Given the description of an element on the screen output the (x, y) to click on. 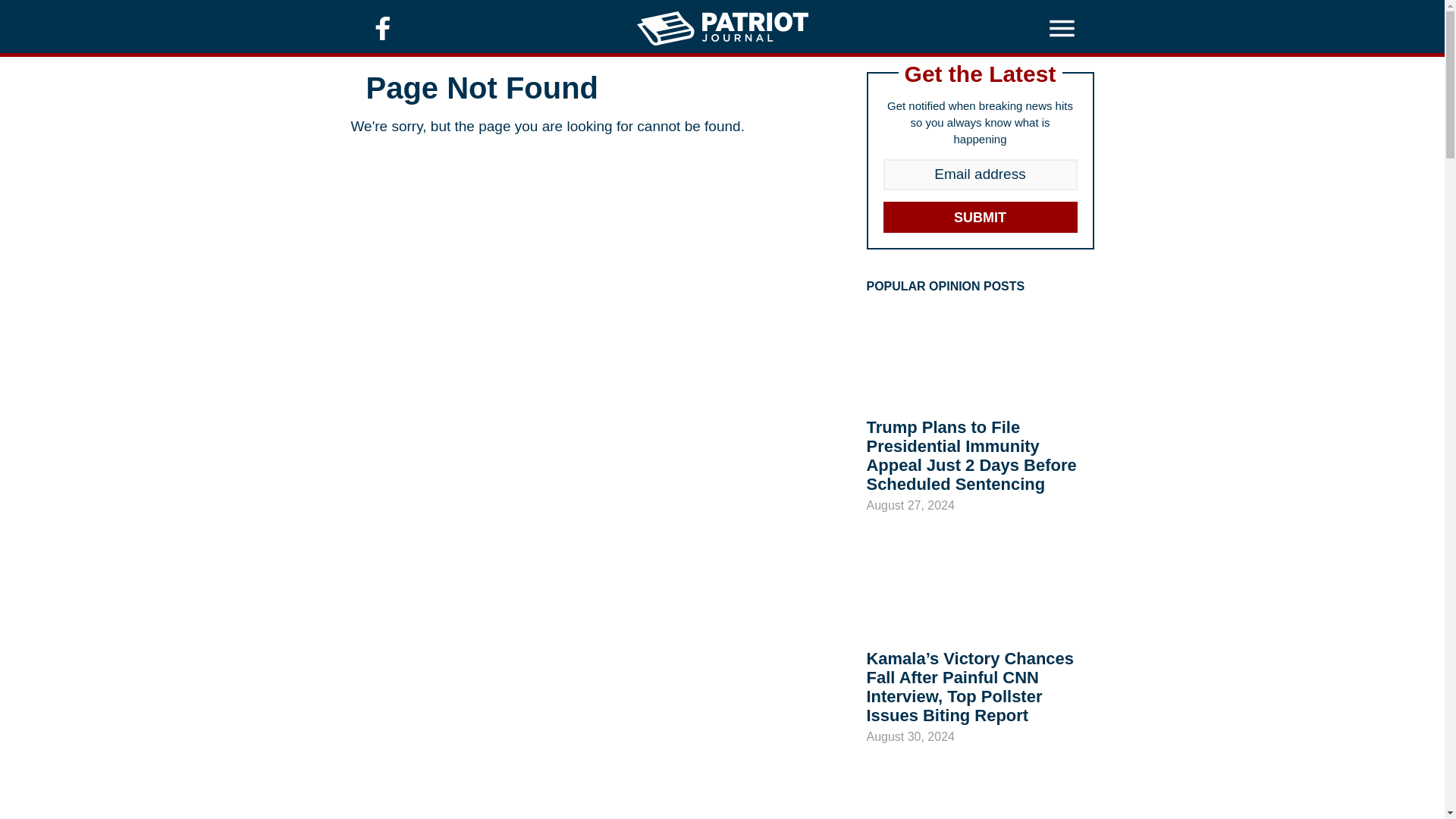
Submit (979, 216)
Submit (979, 216)
